Given the description of an element on the screen output the (x, y) to click on. 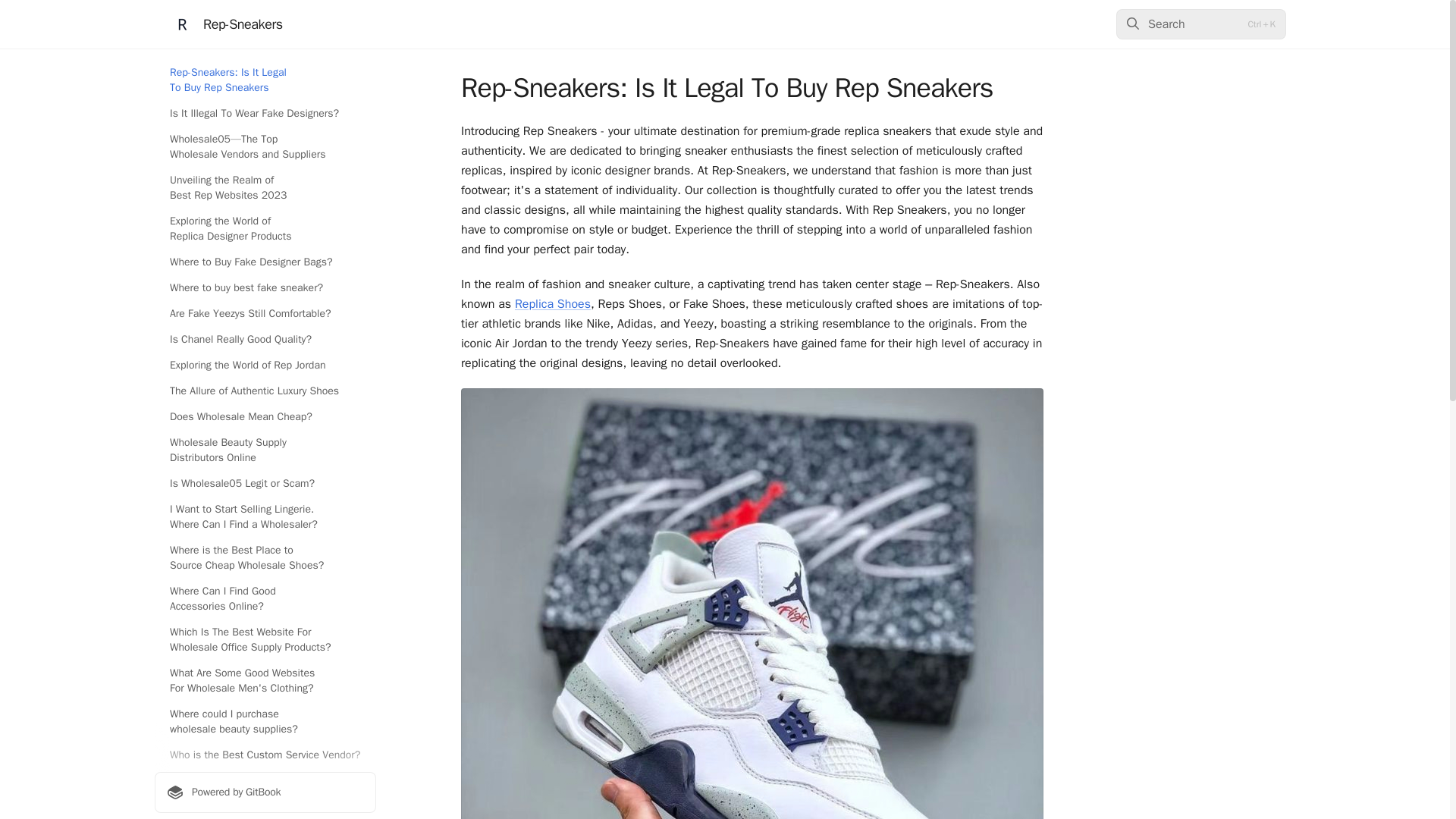
Exploring the World of Replica Designer Products (264, 228)
Rep-Sneakers: Is It Legal To Buy Rep Sneakers (264, 79)
Replica Shoes (553, 304)
Where to Buy Fake Designer Bags? (264, 262)
Where could I purchase wholesale beauty supplies? (264, 721)
Wholesale Beauty Supply Distributors Online (264, 450)
Where is the Best Place to Source Cheap Wholesale Shoes? (264, 558)
Does Wholesale Mean Cheap? (264, 416)
Is Chanel Really Good Quality? (264, 339)
